Given the description of an element on the screen output the (x, y) to click on. 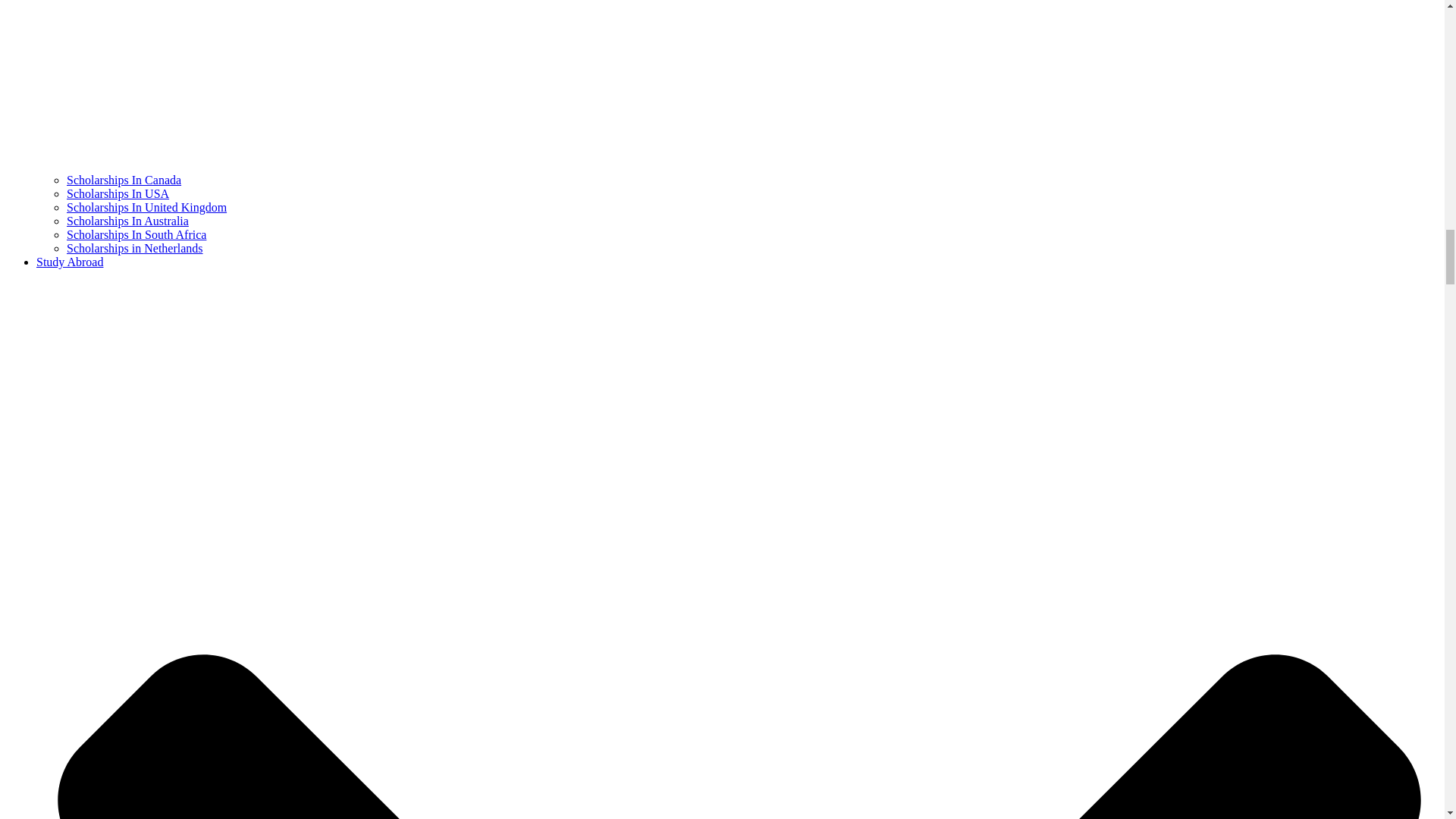
Scholarships in Netherlands (134, 247)
Scholarships In South Africa (136, 234)
Scholarships In Australia (127, 220)
Study Abroad (69, 261)
Scholarships In United Kingdom (146, 206)
Scholarships In USA (117, 193)
Scholarships In Canada (123, 179)
